Given the description of an element on the screen output the (x, y) to click on. 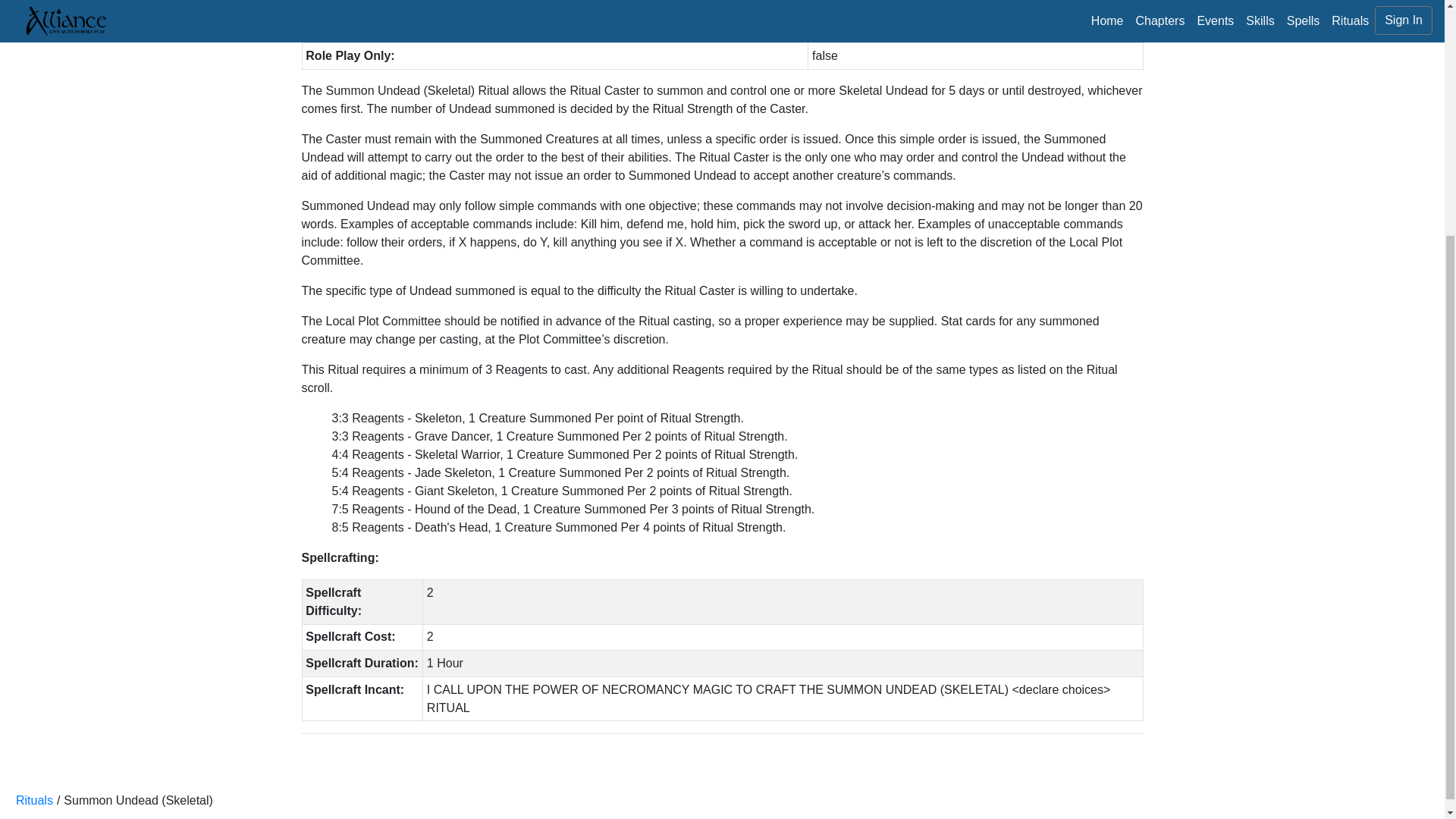
Rituals (34, 799)
